Given the description of an element on the screen output the (x, y) to click on. 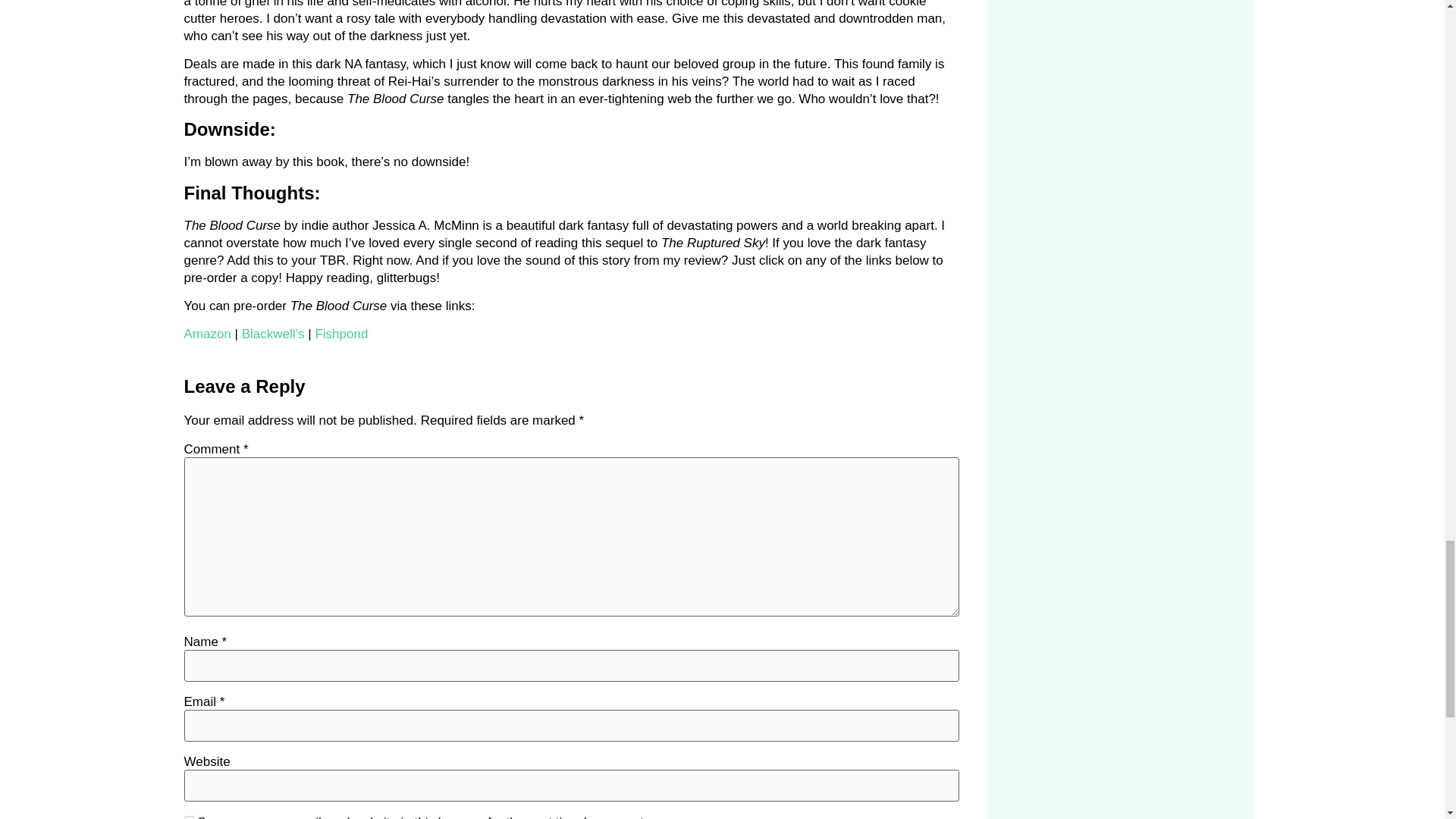
yes (188, 817)
Amazon (206, 333)
Fishpond (341, 333)
